Given the description of an element on the screen output the (x, y) to click on. 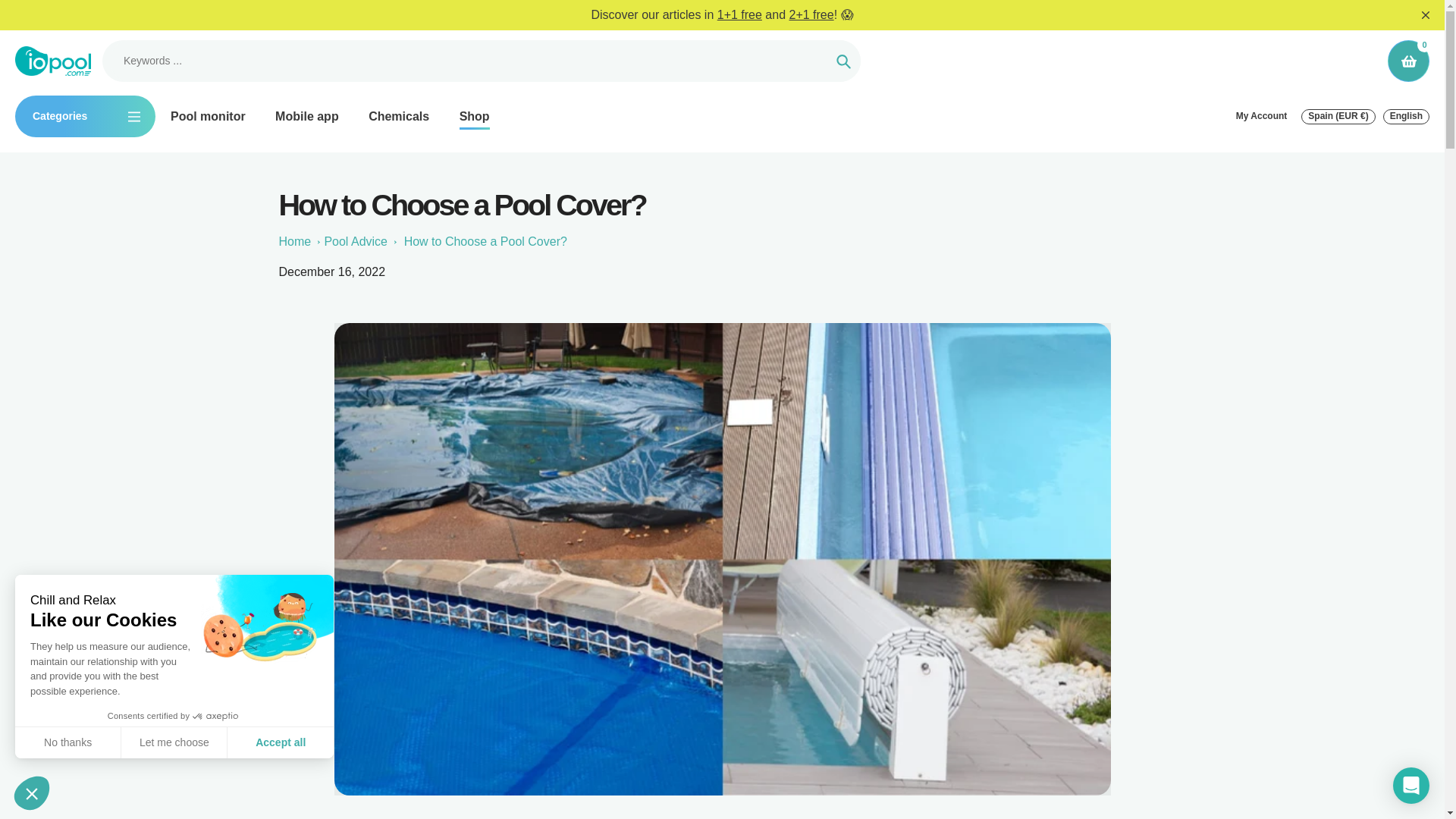
Buy One Get One Free (739, 14)
Continue and decide later (31, 792)
0 (1408, 60)
Buy Two Get One Free (810, 14)
Categories (84, 116)
0 (19, 787)
